Given the description of an element on the screen output the (x, y) to click on. 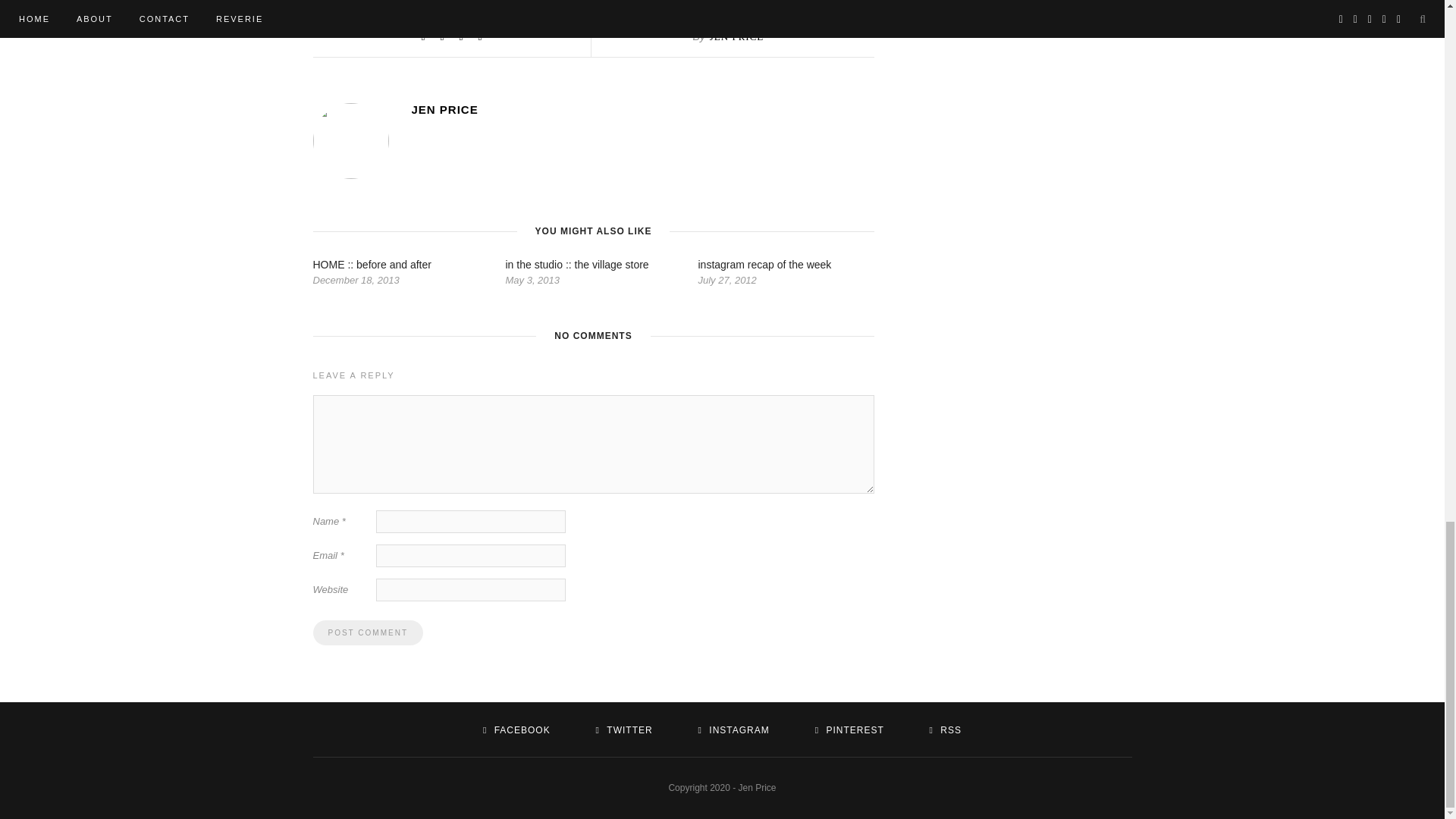
Post Comment (367, 632)
FACEBOOK (516, 729)
HOME :: before and after (371, 264)
JEN PRICE (641, 109)
in the studio :: the village store (576, 264)
instagram recap of the week (764, 264)
Posts by Jen Price (736, 36)
TWITTER (623, 729)
JEN PRICE (736, 36)
INSTAGRAM (734, 729)
